Given the description of an element on the screen output the (x, y) to click on. 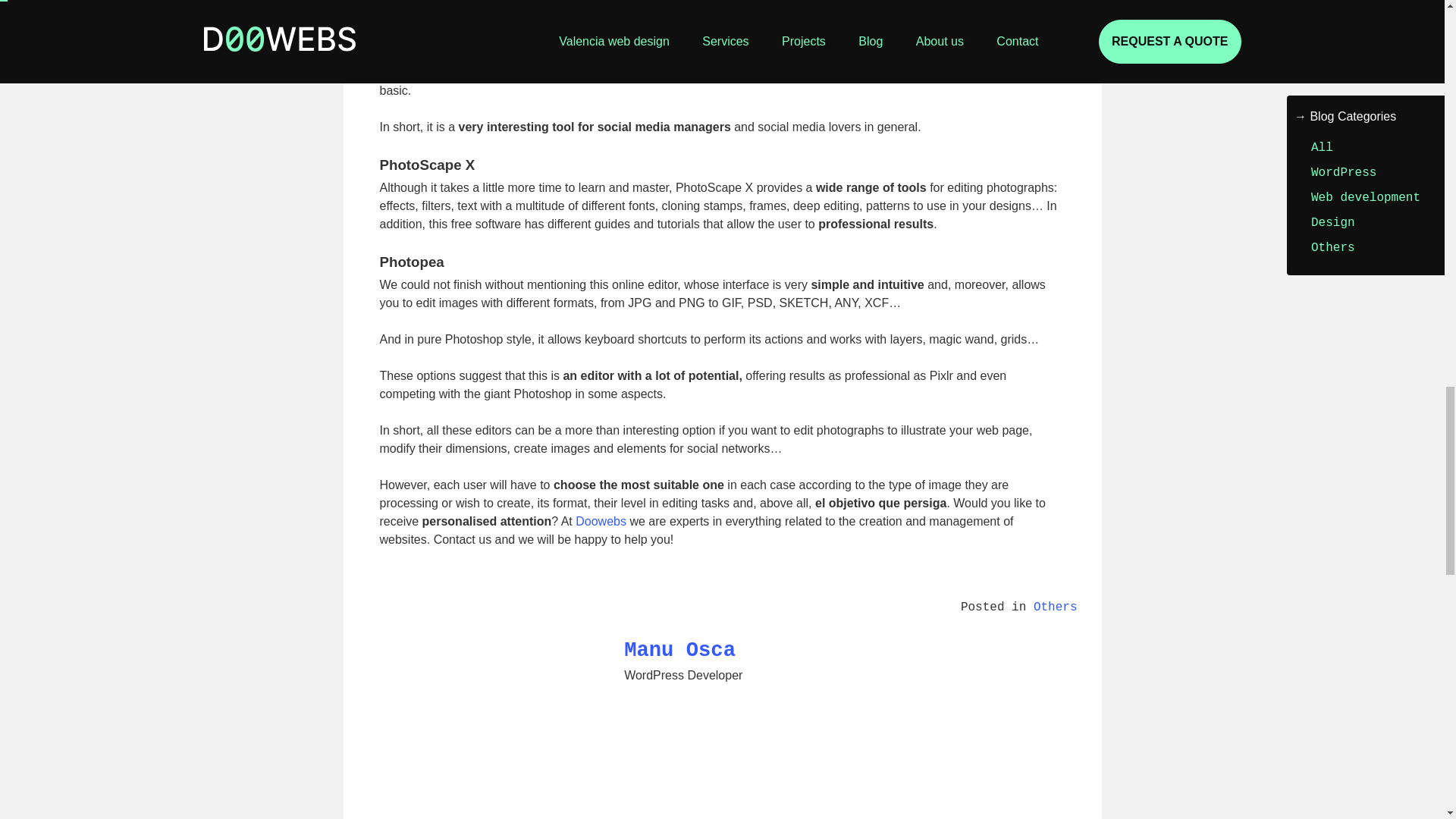
Others (1055, 607)
Manu Osca (679, 649)
Manu Osca (473, 710)
Doowebs (600, 521)
Manu Osca (473, 801)
Manu Osca (679, 649)
